Given the description of an element on the screen output the (x, y) to click on. 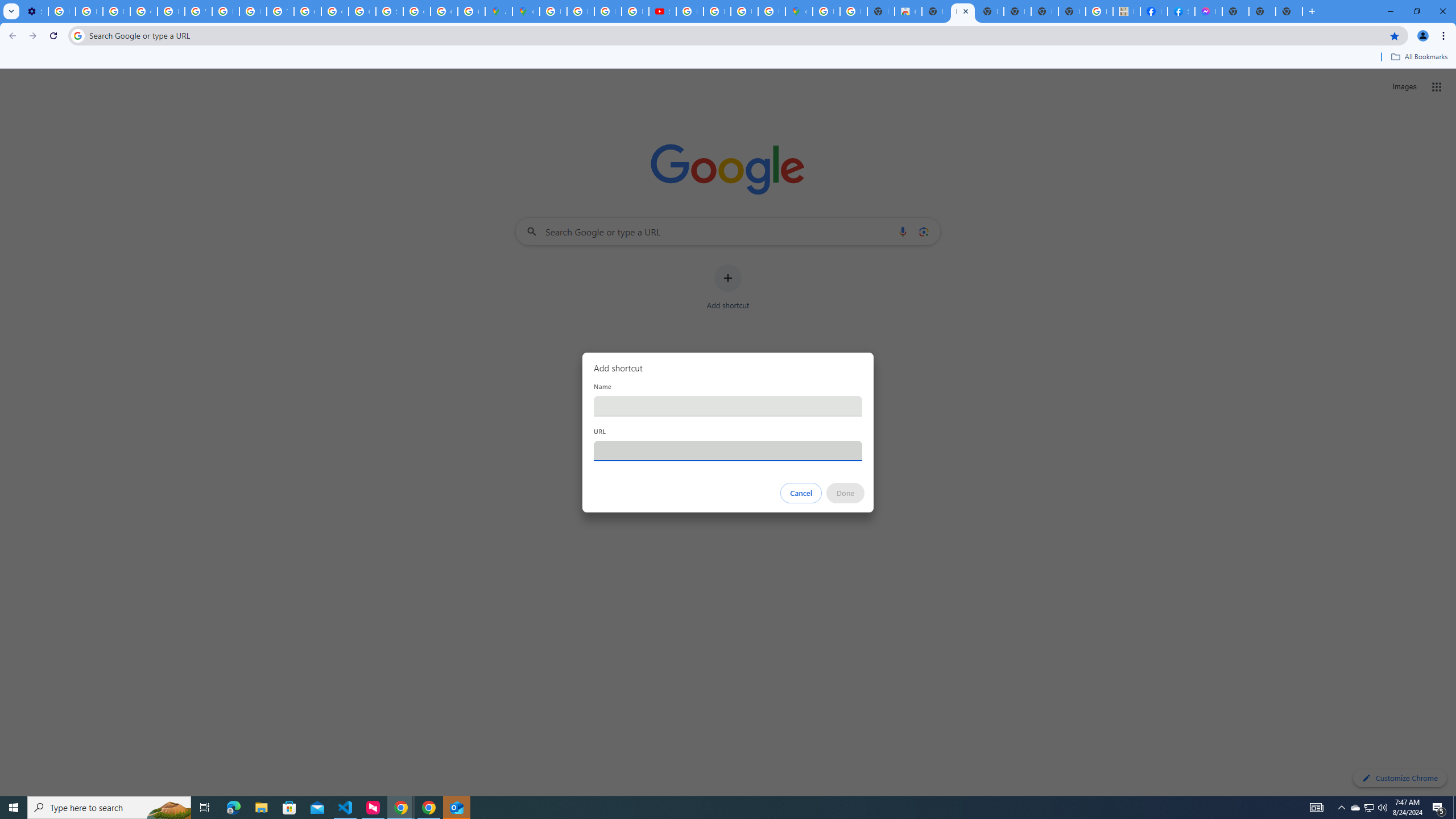
Blogger Policies and Guidelines - Transparency Center (553, 11)
Settings - Customize profile (34, 11)
Privacy Help Center - Policies Help (580, 11)
YouTube (197, 11)
Bookmarks (728, 58)
